Given the description of an element on the screen output the (x, y) to click on. 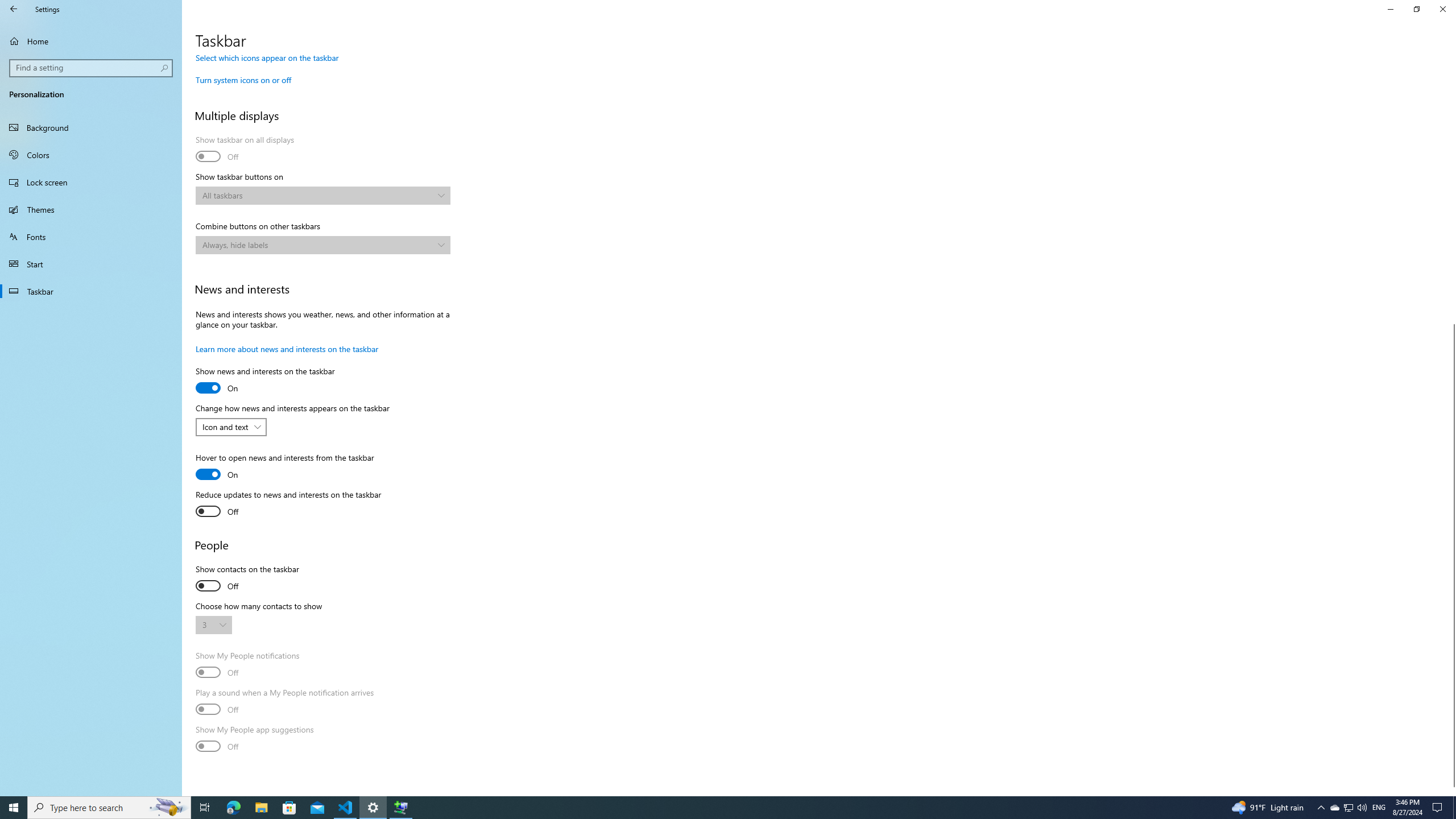
Close Settings (1442, 9)
Restore Settings (1416, 9)
Vertical Large Decrease (1451, 193)
Extensible Wizards Host Process - 1 running window (400, 807)
Minimize Settings (1390, 9)
3 (208, 624)
Vertical Small Increase (1451, 791)
Search box, Find a setting (91, 67)
Fonts (91, 236)
